Given the description of an element on the screen output the (x, y) to click on. 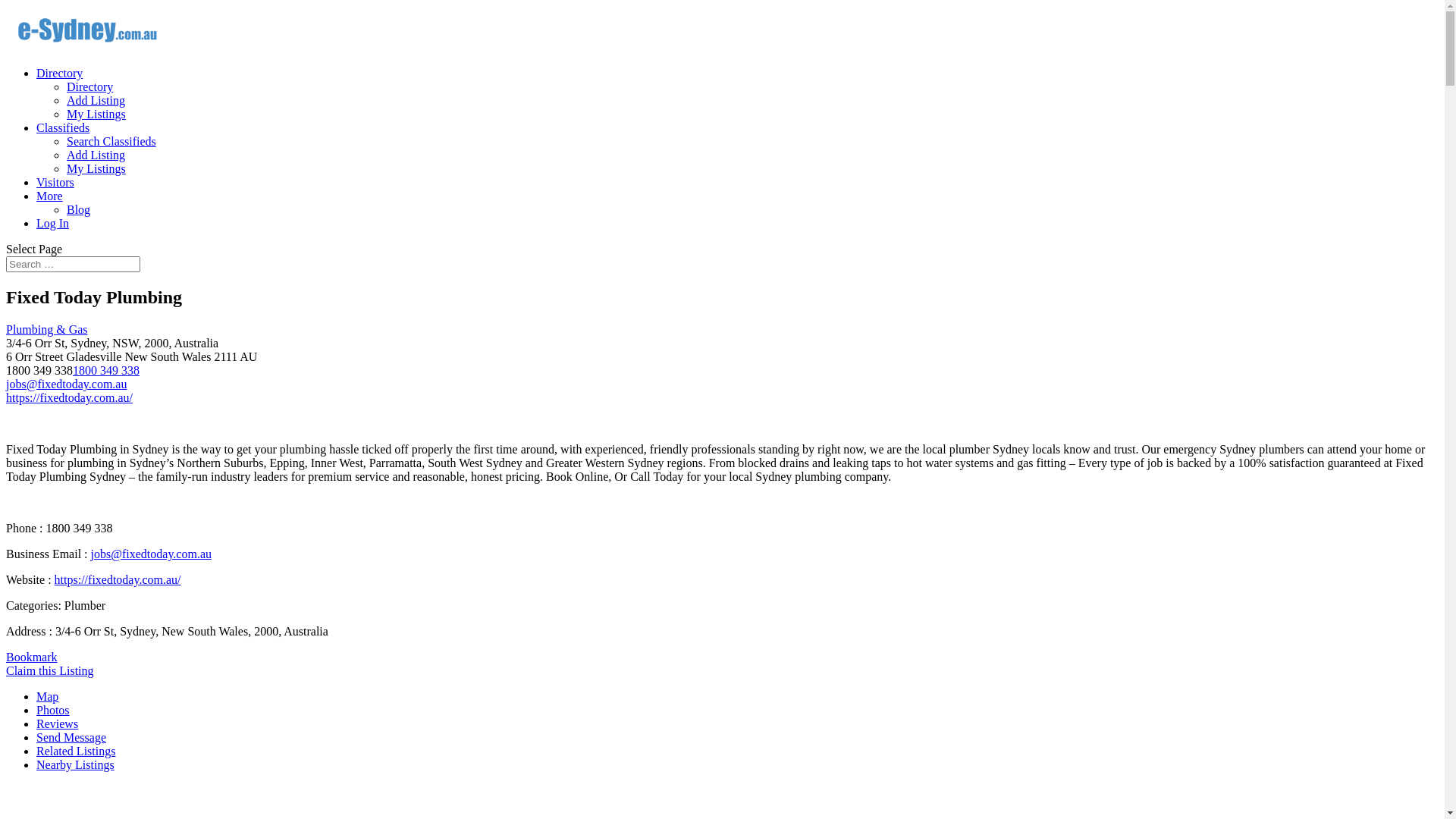
Claim this Listing Element type: text (50, 670)
More Element type: text (49, 195)
Classifieds Element type: text (62, 127)
https://fixedtoday.com.au/ Element type: text (69, 397)
Directory Element type: text (59, 72)
Photos Element type: text (52, 709)
Add Listing Element type: text (95, 100)
Nearby Listings Element type: text (75, 764)
1800 349 338 Element type: text (105, 370)
Directory Element type: text (89, 86)
jobs@fixedtoday.com.au Element type: text (151, 553)
My Listings Element type: text (95, 168)
Add Listing Element type: text (95, 154)
Send Message Element type: text (71, 737)
Reviews Element type: text (57, 723)
Map Element type: text (47, 696)
Search for: Element type: hover (73, 264)
My Listings Element type: text (95, 113)
Related Listings Element type: text (75, 750)
Blog Element type: text (78, 209)
Visitors Element type: text (55, 181)
https://fixedtoday.com.au/ Element type: text (117, 579)
Log In Element type: text (52, 222)
Bookmark Element type: text (31, 656)
Search Classifieds Element type: text (111, 140)
jobs@fixedtoday.com.au Element type: text (66, 383)
Plumbing & Gas Element type: text (46, 329)
